Given the description of an element on the screen output the (x, y) to click on. 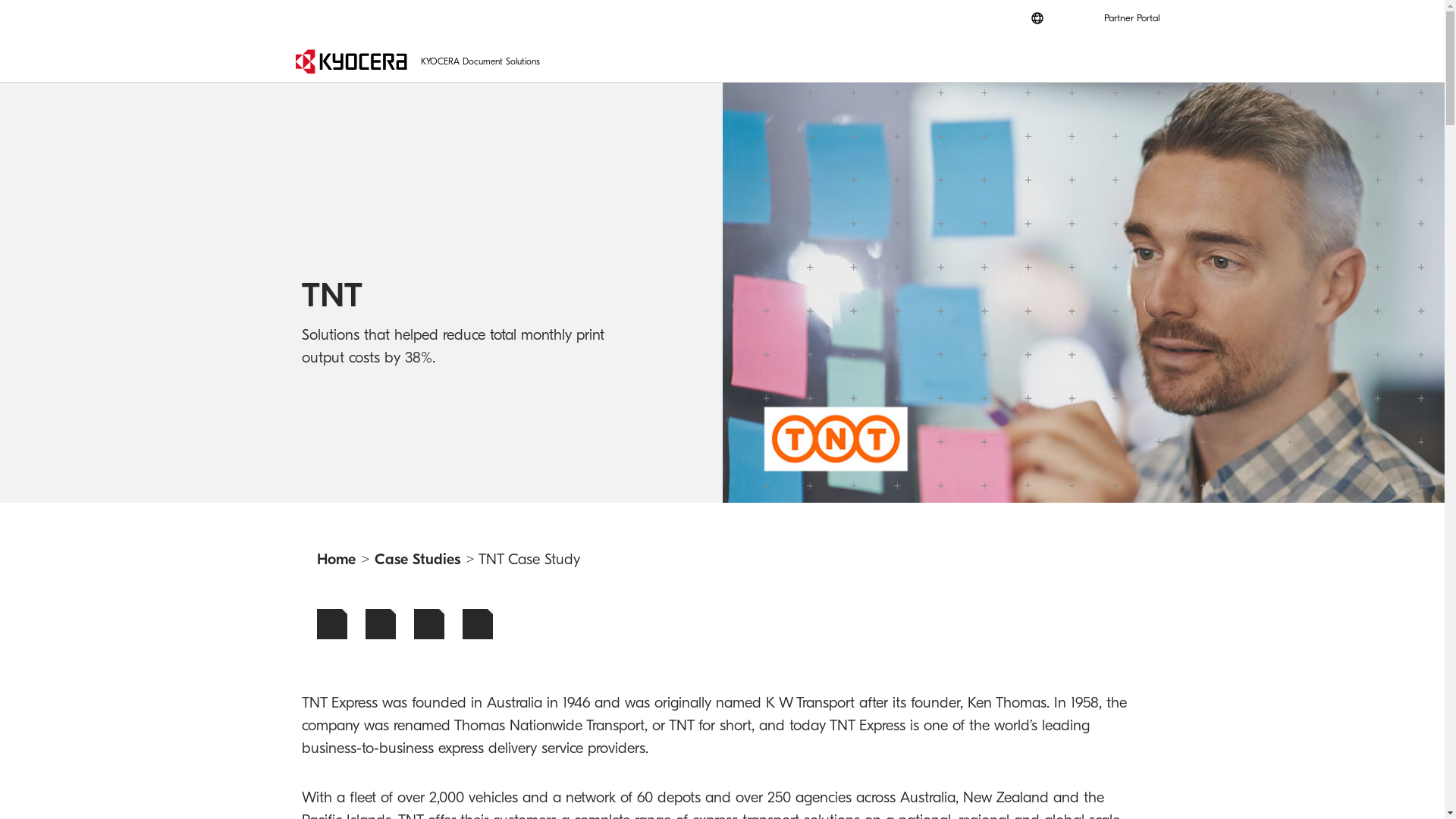
Home Element type: text (335, 559)
Case Studies Element type: text (417, 559)
Partner Portal Element type: text (1132, 17)
